Given the description of an element on the screen output the (x, y) to click on. 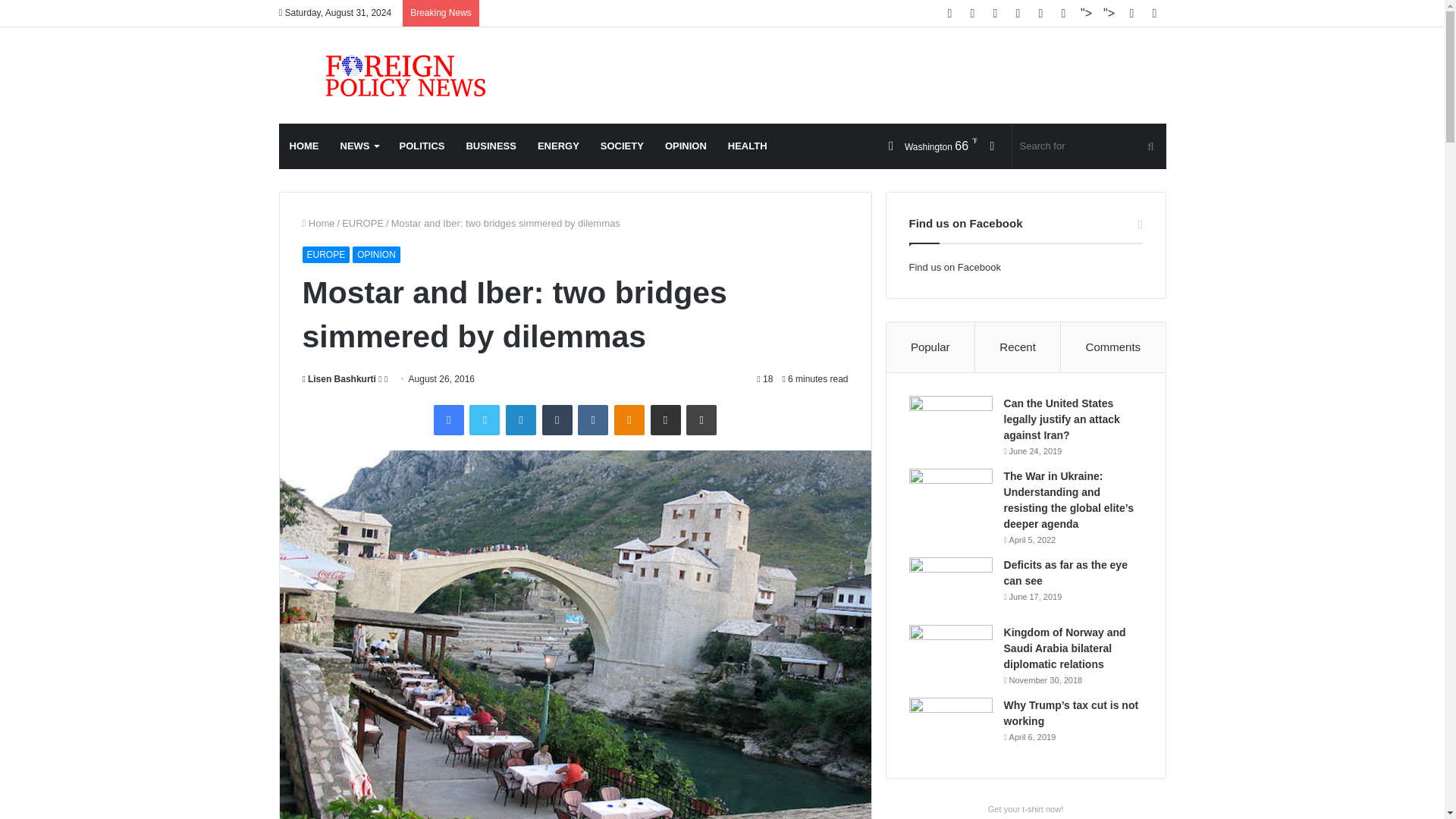
NEWS (358, 145)
Search for (1088, 145)
Lisen Bashkurti (338, 378)
ENERGY (558, 145)
POLITICS (421, 145)
VKontakte (593, 419)
Home (317, 223)
BUSINESS (489, 145)
HEALTH (747, 145)
Facebook (448, 419)
